Given the description of an element on the screen output the (x, y) to click on. 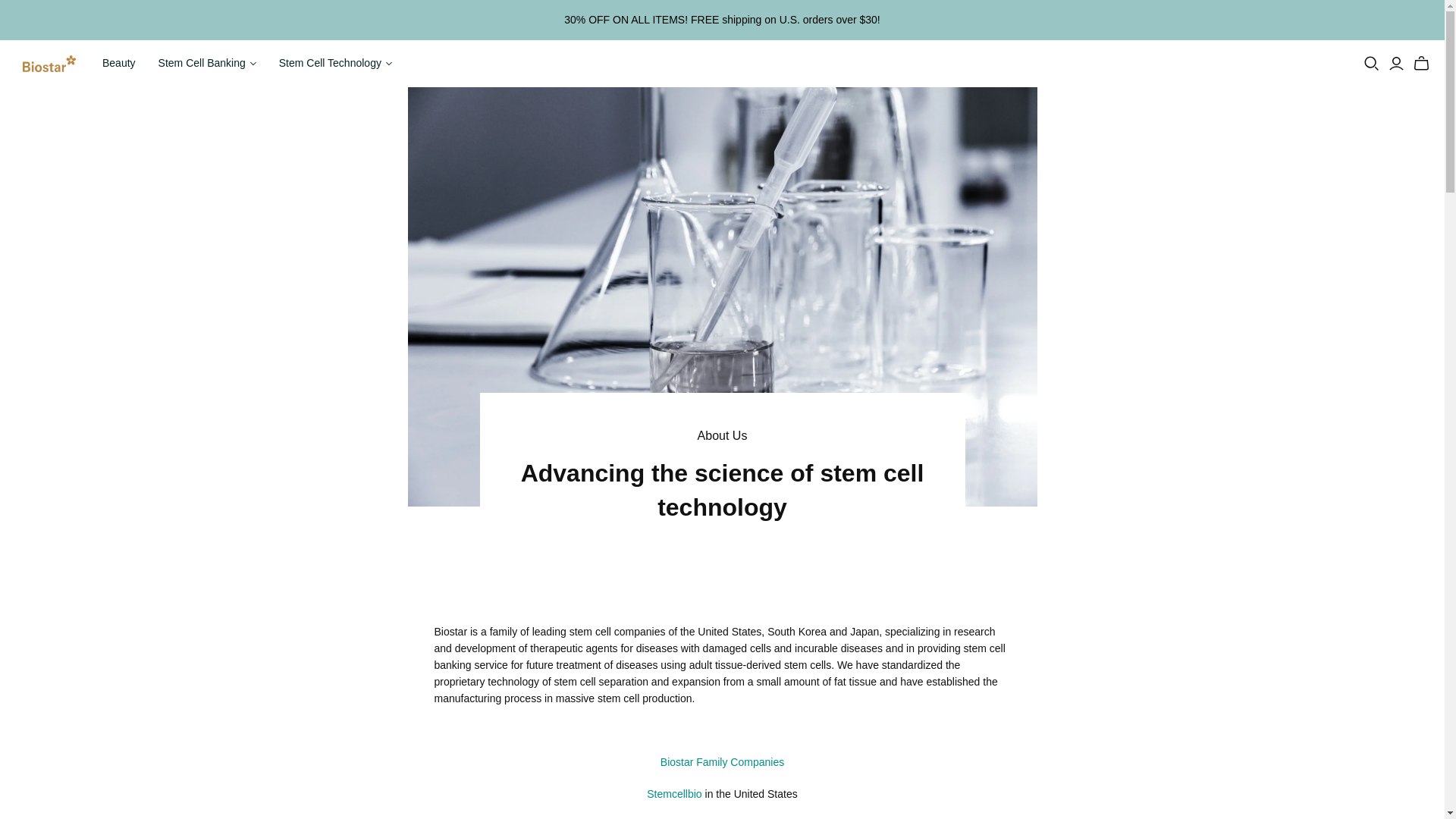
Beauty (118, 63)
Biostar Family Companies (722, 761)
Stem Cell Banking (207, 63)
Stemcellbio (673, 793)
Stemcellbio (673, 793)
Stem Cell Technology (335, 63)
Biostar Family Companies (722, 761)
